Given the description of an element on the screen output the (x, y) to click on. 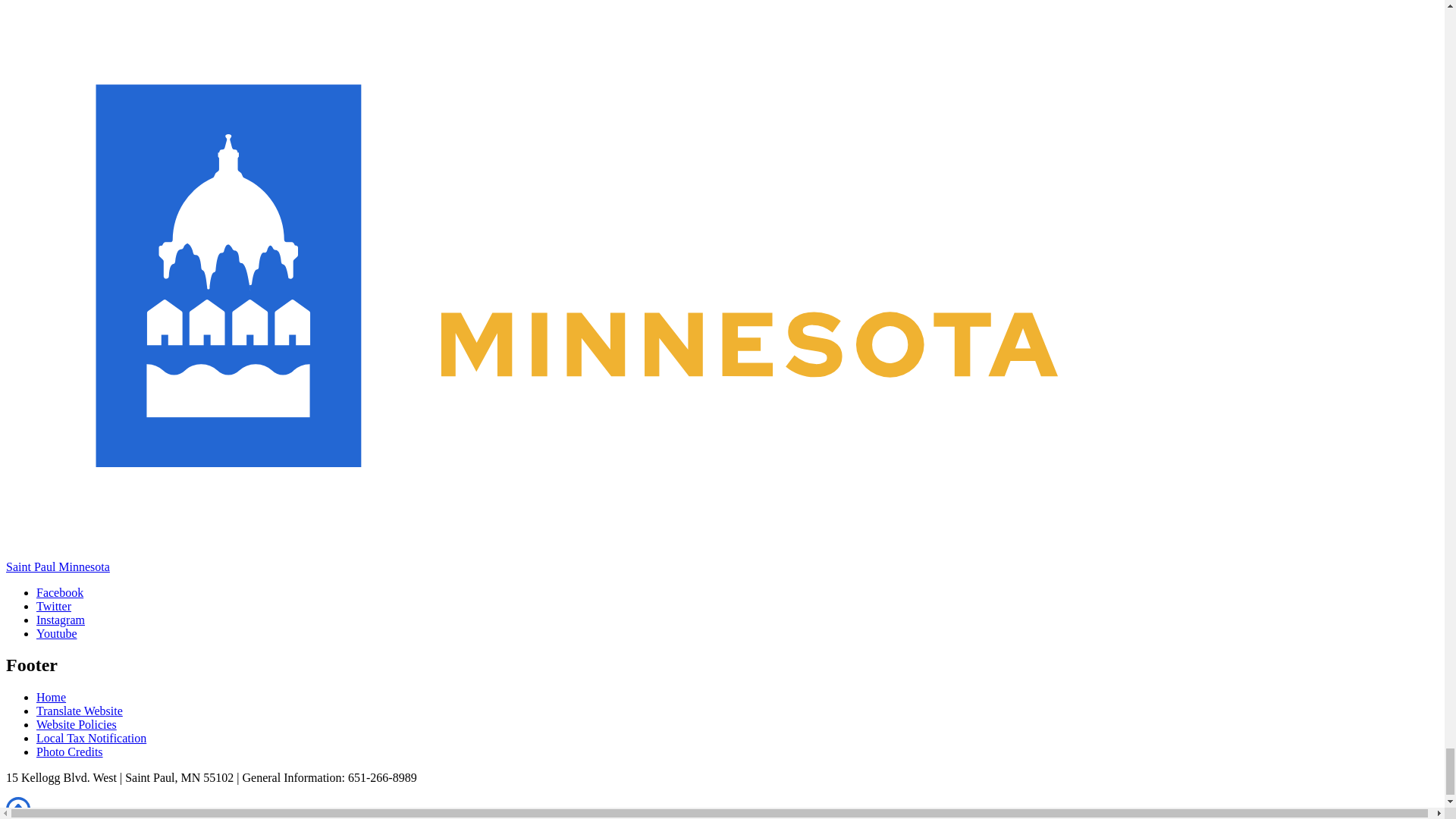
Follow us on YouTube (56, 633)
Follow us on Twitter (53, 605)
Follow us on Facebook (59, 592)
Home (721, 560)
Follow us on Instagram (60, 619)
